Given the description of an element on the screen output the (x, y) to click on. 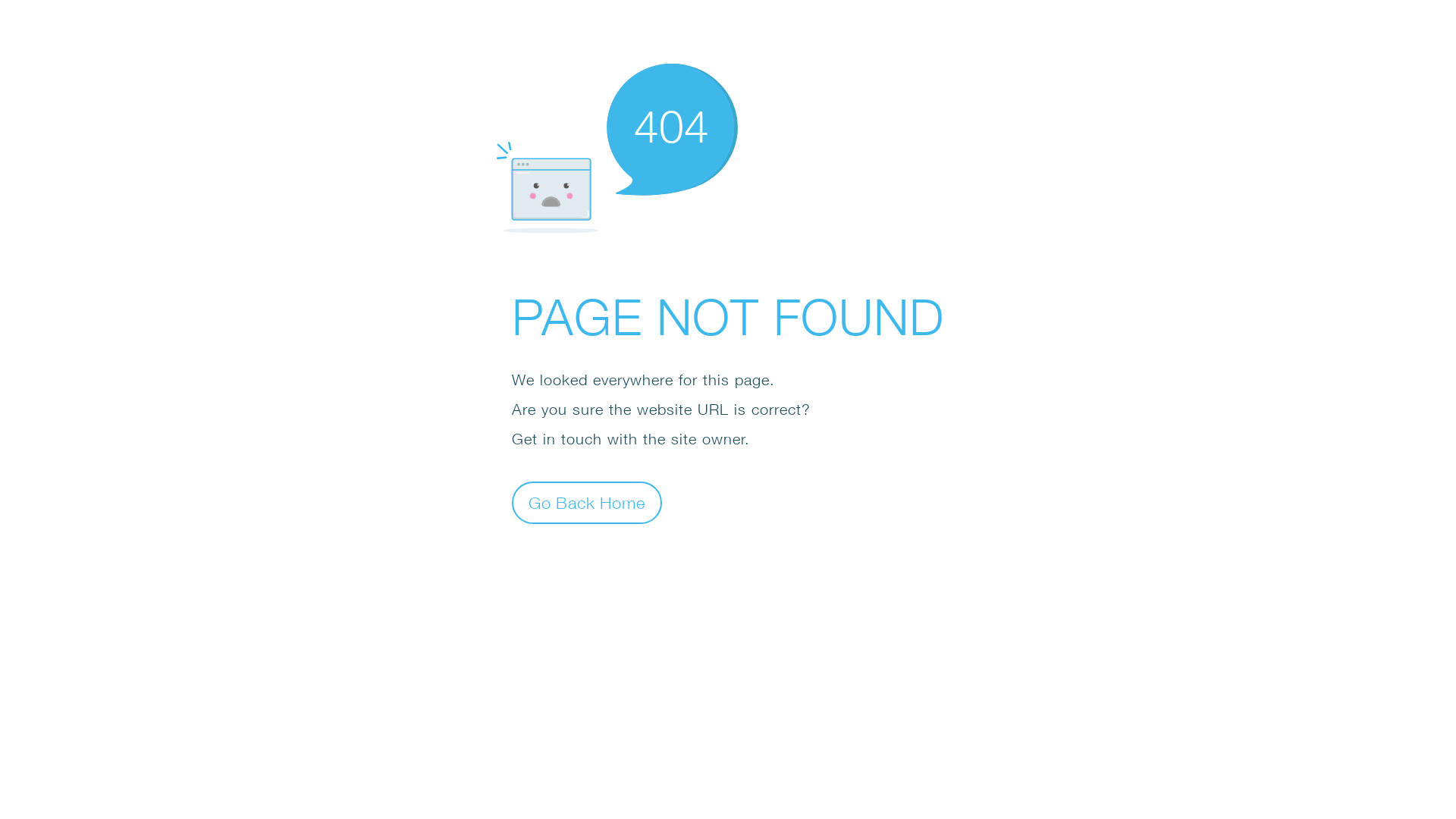
Go Back Home Element type: text (586, 502)
